Given the description of an element on the screen output the (x, y) to click on. 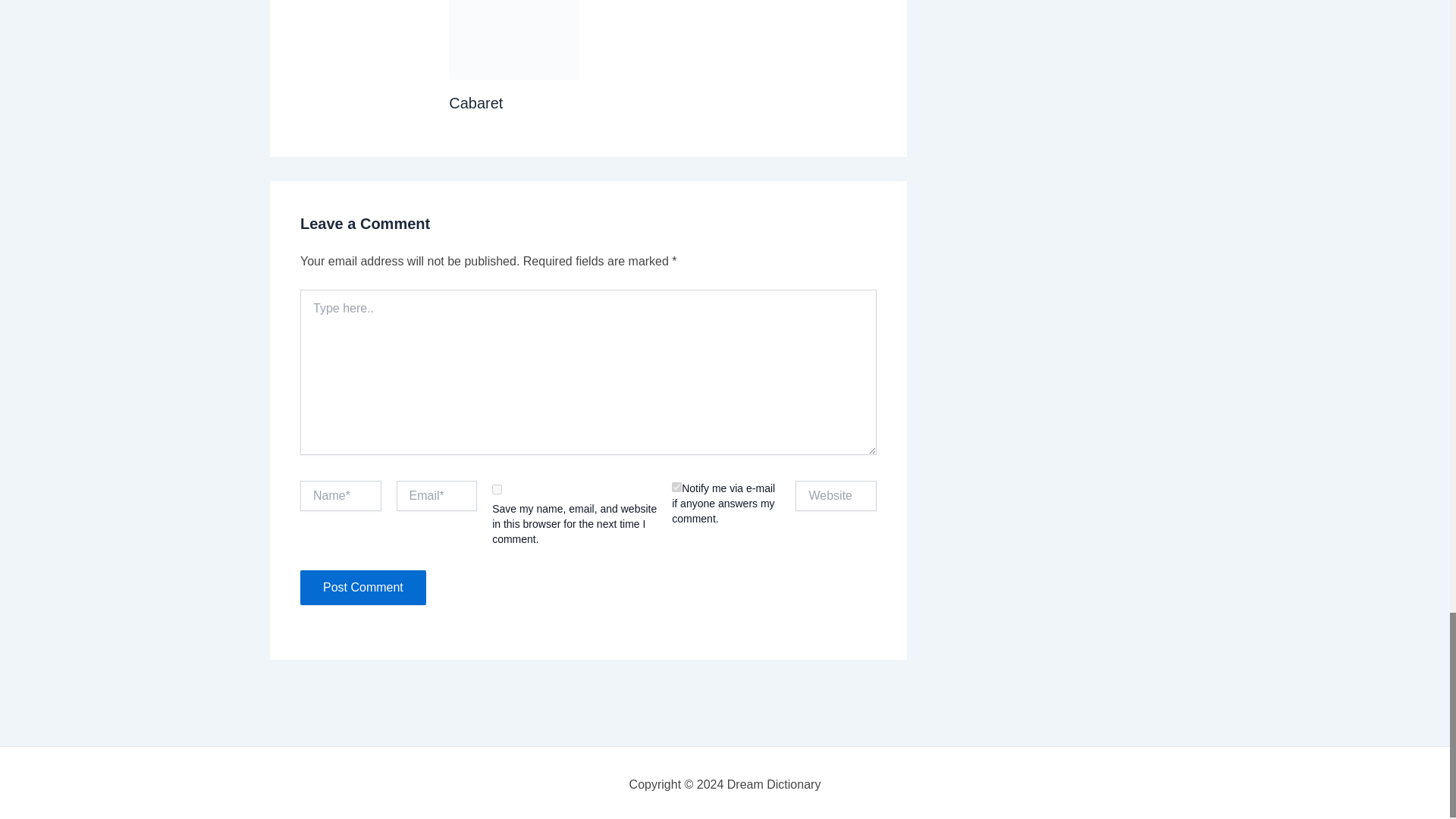
yes (497, 489)
Post Comment (362, 587)
on (676, 487)
